Given the description of an element on the screen output the (x, y) to click on. 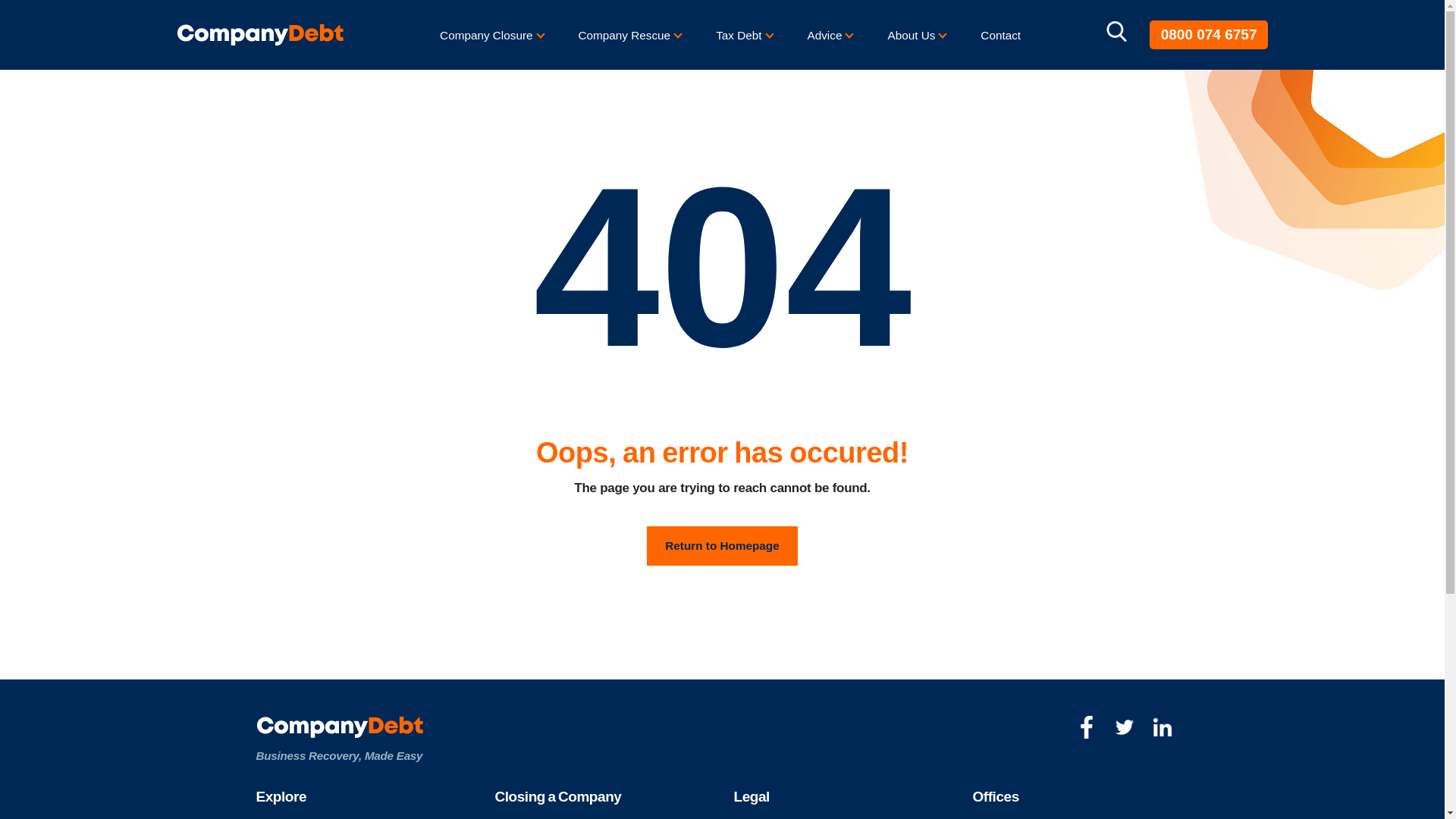
0800 074 6757 (1209, 34)
Return to Homepage (721, 545)
About Us (911, 34)
Contact (1000, 34)
